Given the description of an element on the screen output the (x, y) to click on. 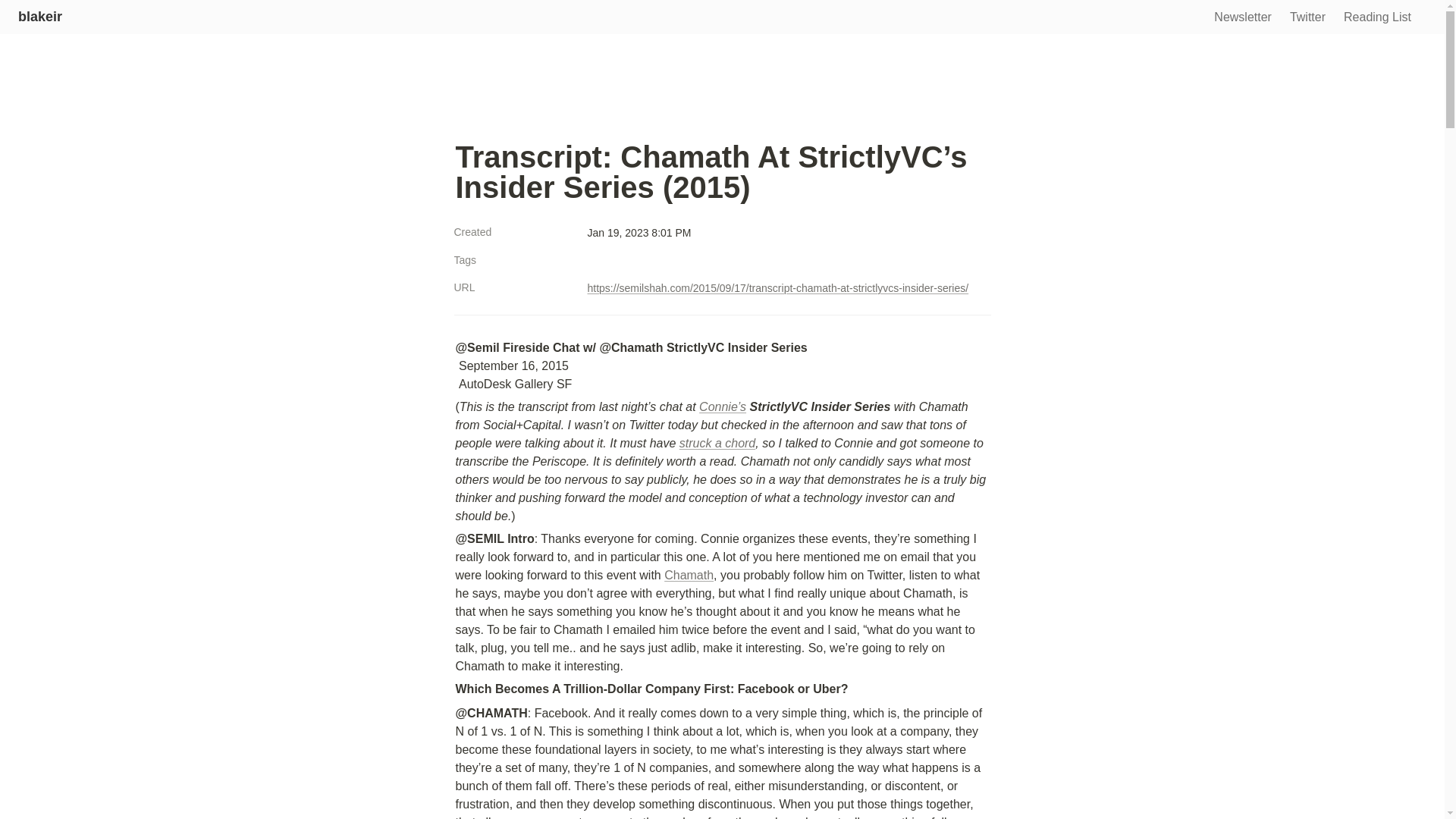
Twitter (1308, 18)
Reading List (1378, 18)
Chamath (688, 574)
struck a chord (717, 442)
Newsletter (1243, 18)
blakeir (39, 17)
